Given the description of an element on the screen output the (x, y) to click on. 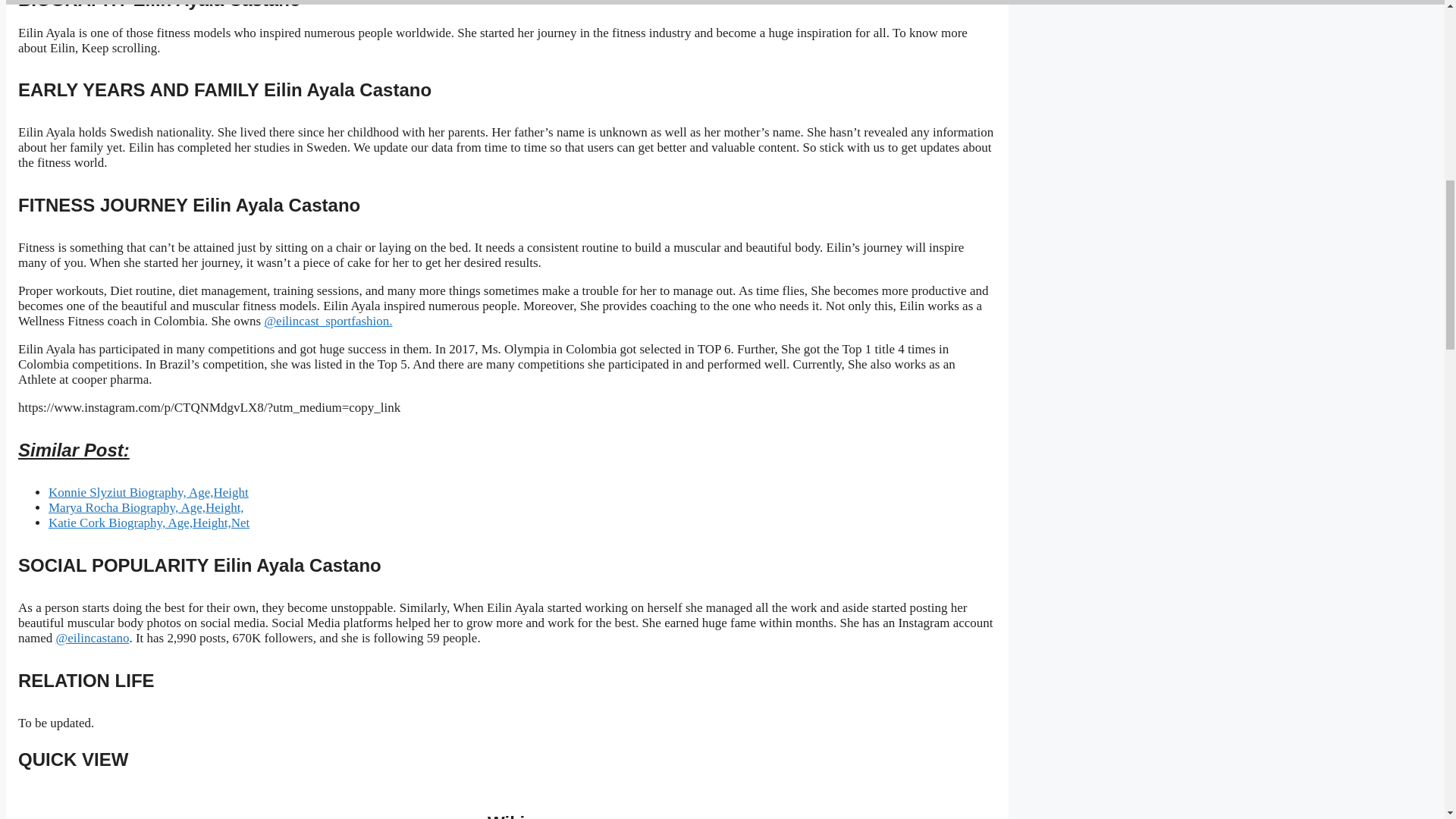
Marya Rocha Biography, Age,Height, (146, 507)
Katie Cork Biography, Age,Height,Net (148, 522)
Konnie Slyziut Biography, Age,Height (148, 492)
